Given the description of an element on the screen output the (x, y) to click on. 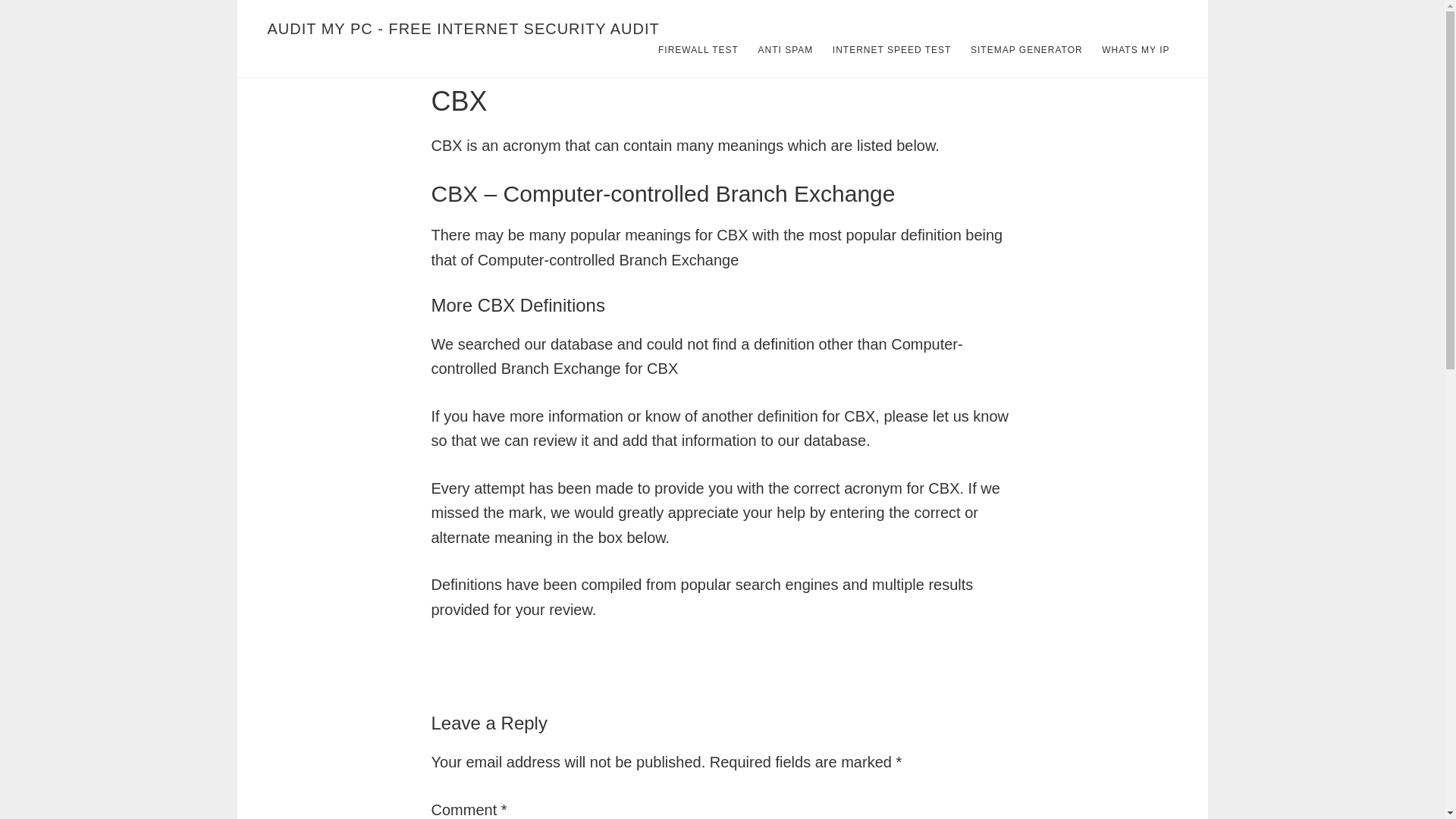
SITEMAP GENERATOR (1026, 49)
WHATS MY IP (1135, 49)
FIREWALL TEST (697, 49)
ANTI SPAM (785, 49)
AUDIT MY PC - FREE INTERNET SECURITY AUDIT (462, 28)
INTERNET SPEED TEST (892, 49)
